Given the description of an element on the screen output the (x, y) to click on. 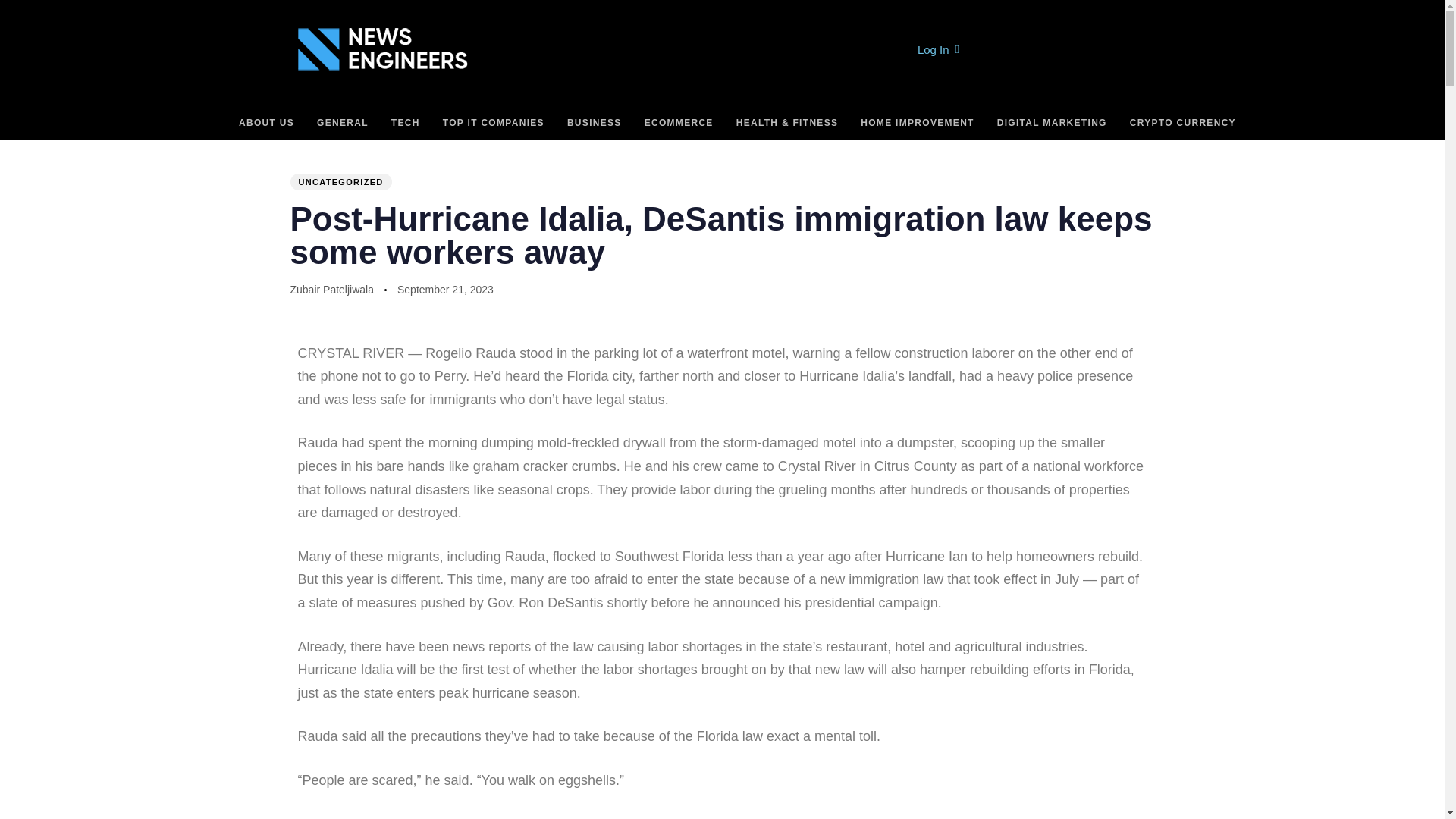
Posts by Zubair Pateljiwala (331, 289)
Zubair Pateljiwala (331, 289)
Log In (938, 49)
BUSINESS (594, 122)
DIGITAL MARKETING (1051, 122)
TOP IT COMPANIES (493, 122)
CRYPTO CURRENCY (1182, 122)
GENERAL (342, 122)
September 21, 2023 (445, 290)
UNCATEGORIZED (340, 181)
